Given the description of an element on the screen output the (x, y) to click on. 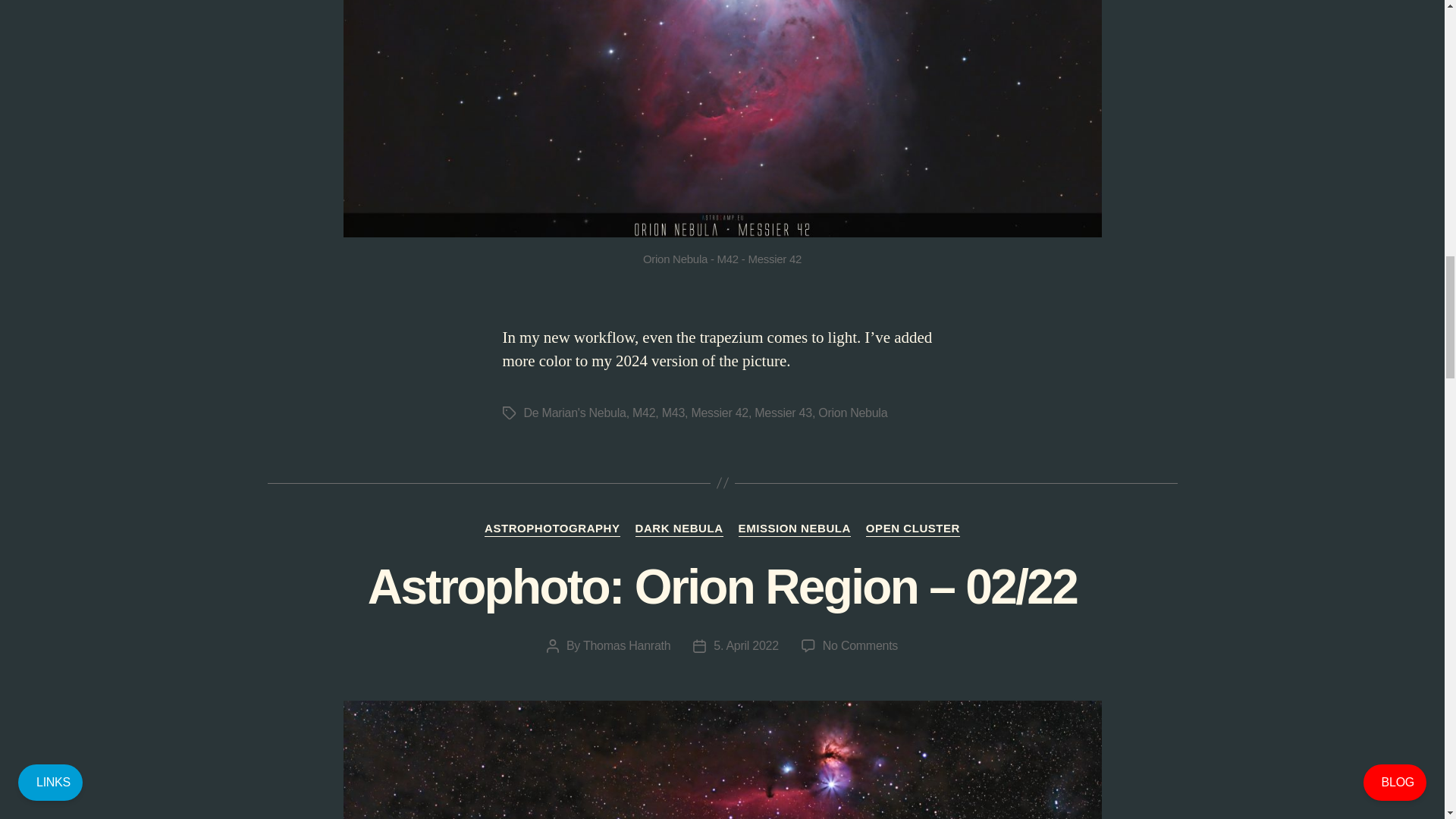
M43 (673, 412)
De Marian's Nebula (574, 412)
DARK NEBULA (678, 529)
ASTROPHOTOGRAPHY (552, 529)
M42 (643, 412)
Messier 43 (783, 412)
Orion Nebula (852, 412)
Messier 42 (719, 412)
EMISSION NEBULA (794, 529)
